Given the description of an element on the screen output the (x, y) to click on. 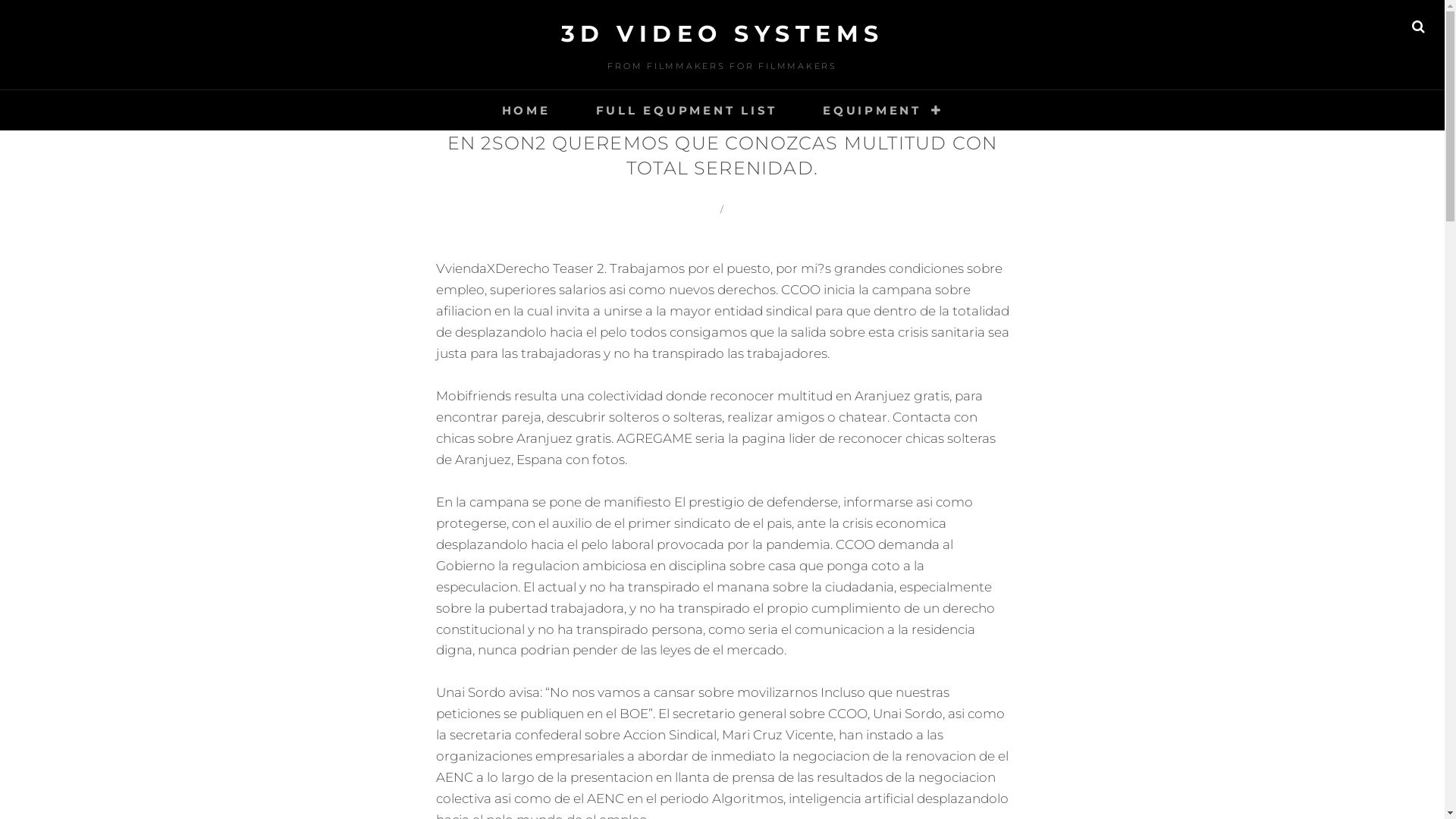
EQUIPMENT Element type: text (882, 110)
FULL EQUPMENT LIST Element type: text (686, 110)
3D VIDEO SYSTEMS Element type: text (722, 33)
SEARCH Element type: text (1418, 26)
HOME Element type: text (525, 110)
